Given the description of an element on the screen output the (x, y) to click on. 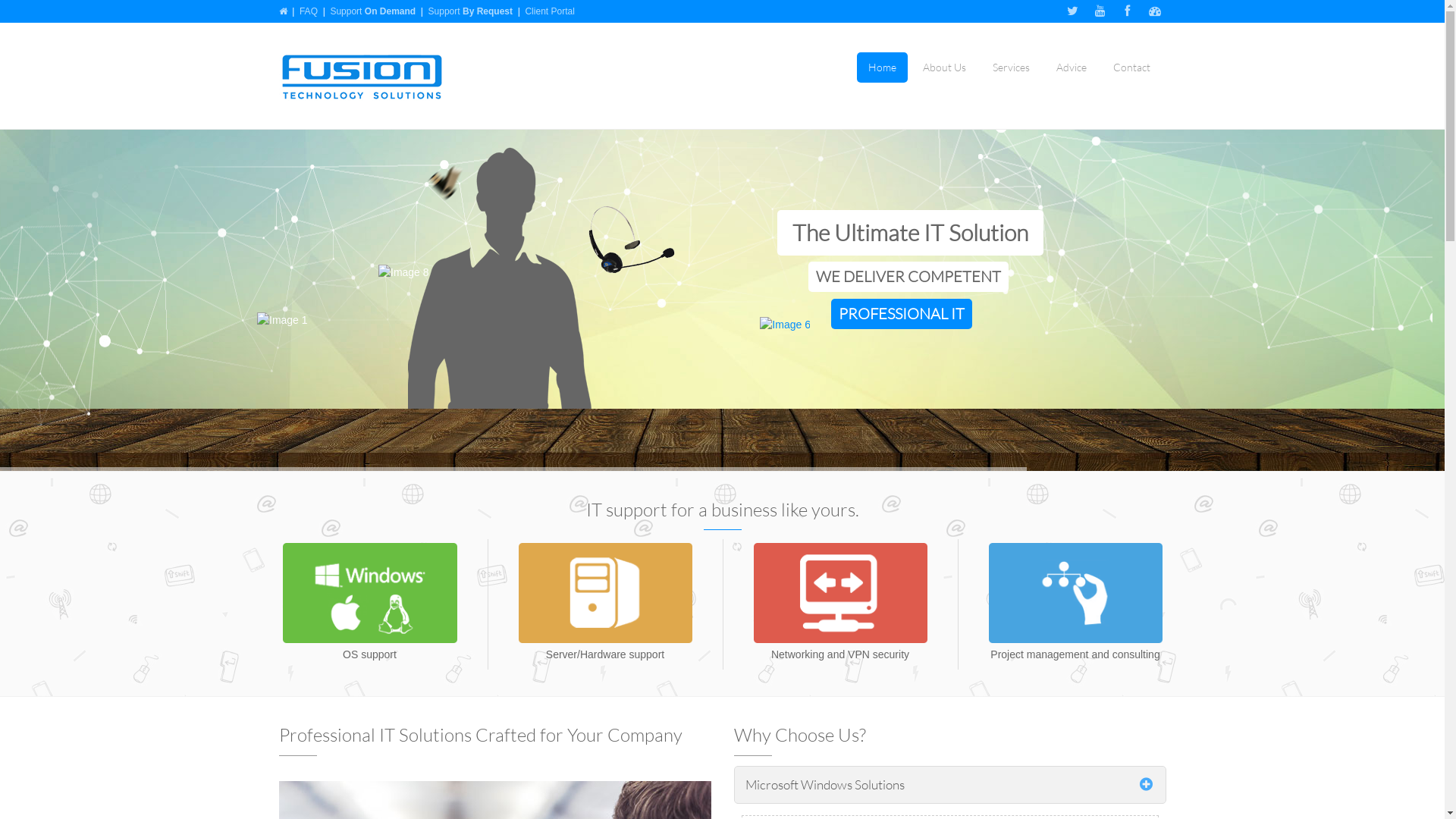
Support On Demand Element type: text (372, 11)
About Us Element type: text (944, 67)
Client Portal Element type: text (549, 11)
Services Element type: text (1011, 67)
Contact Element type: text (1131, 67)
Advice Element type: text (1071, 67)
Support By Request Element type: text (470, 11)
FAQ Element type: text (308, 11)
Home Element type: text (881, 67)
